Given the description of an element on the screen output the (x, y) to click on. 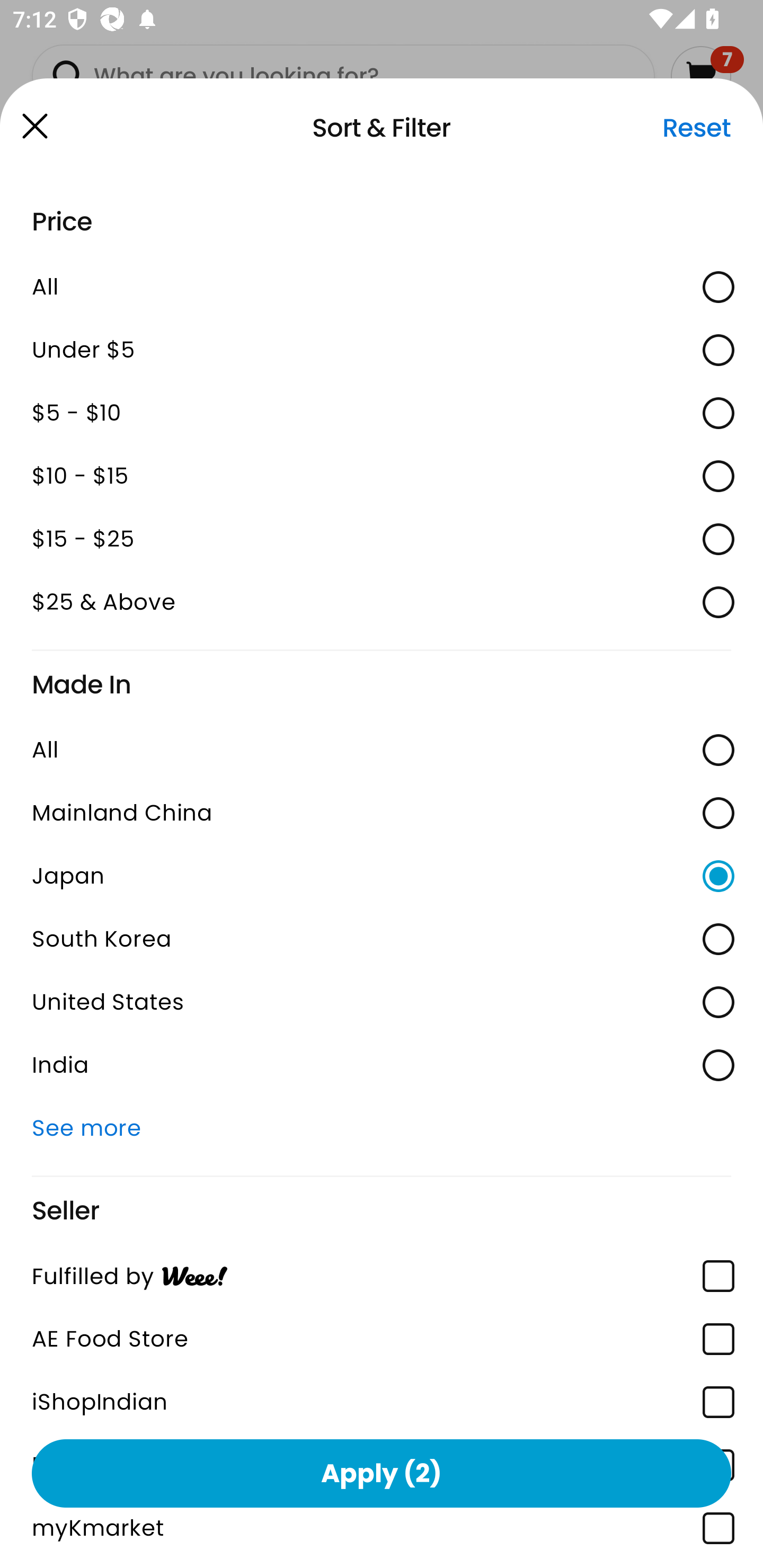
Reset (696, 127)
See more (381, 1128)
Apply (2) (381, 1472)
